Given the description of an element on the screen output the (x, y) to click on. 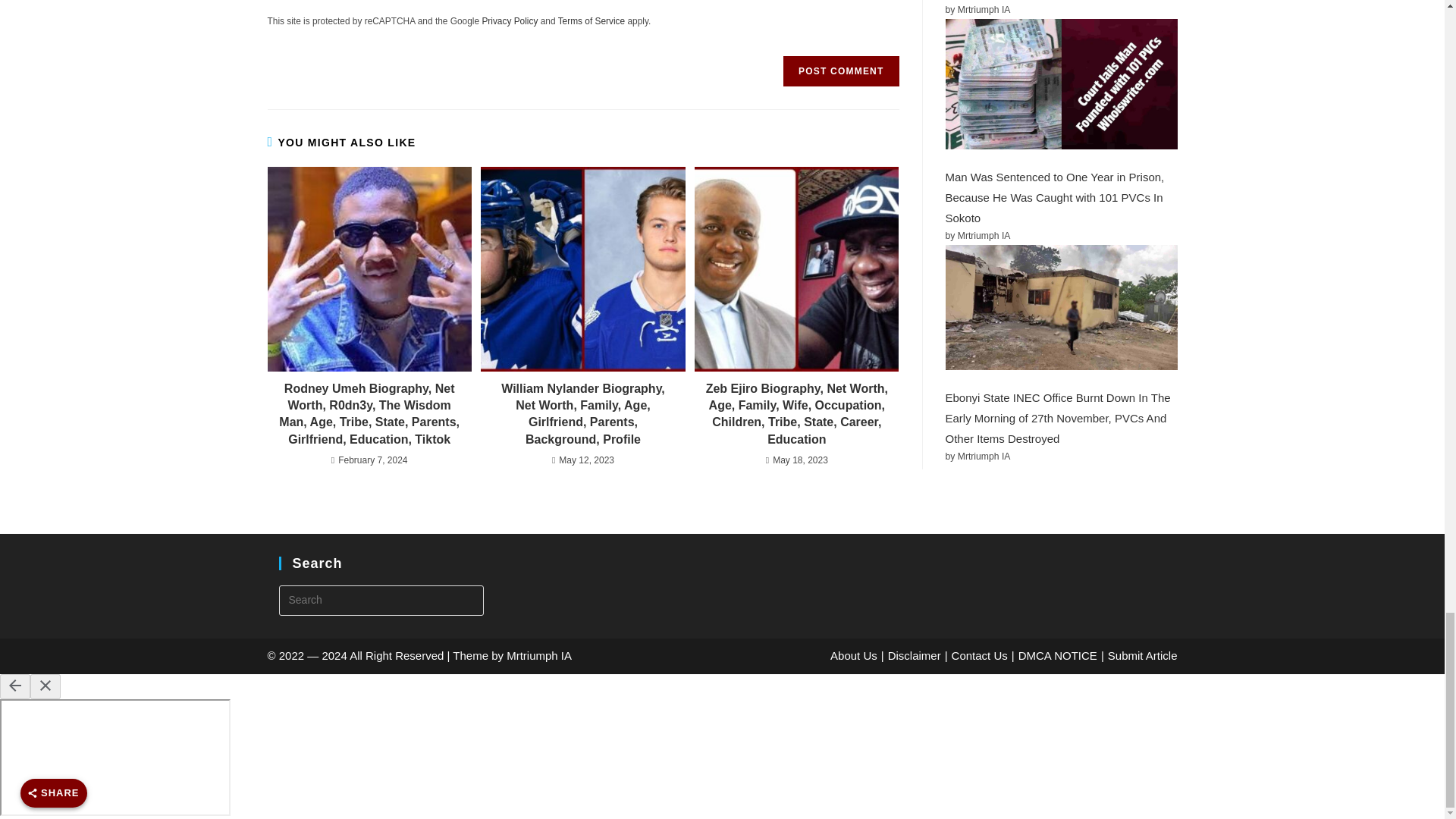
Post Comment (840, 71)
Post Comment (840, 71)
Privacy Policy (509, 20)
Terms of Service (591, 20)
